Given the description of an element on the screen output the (x, y) to click on. 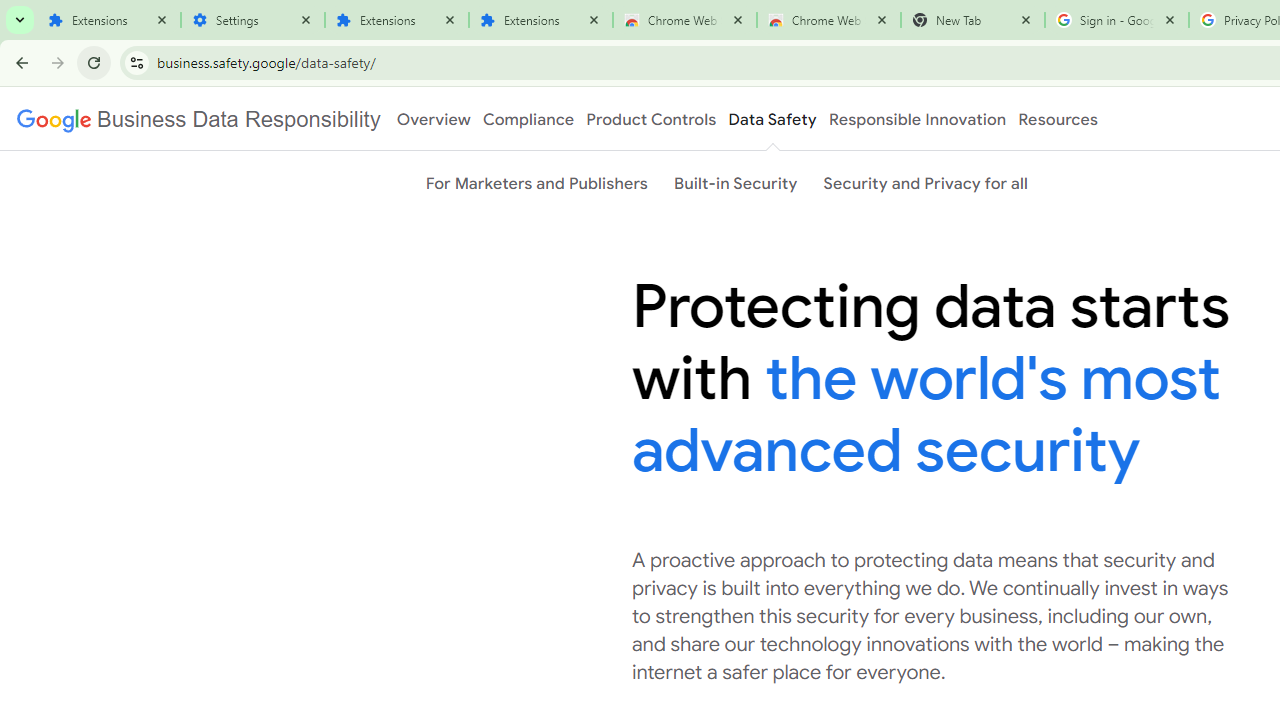
Extensions (108, 20)
Chrome Web Store - Themes (828, 20)
Data Safety (772, 119)
New Tab (972, 20)
Security and Privacy for all (925, 183)
Responsible Innovation (916, 119)
Chrome Web Store (684, 20)
Extensions (396, 20)
Compliance (528, 119)
